Given the description of an element on the screen output the (x, y) to click on. 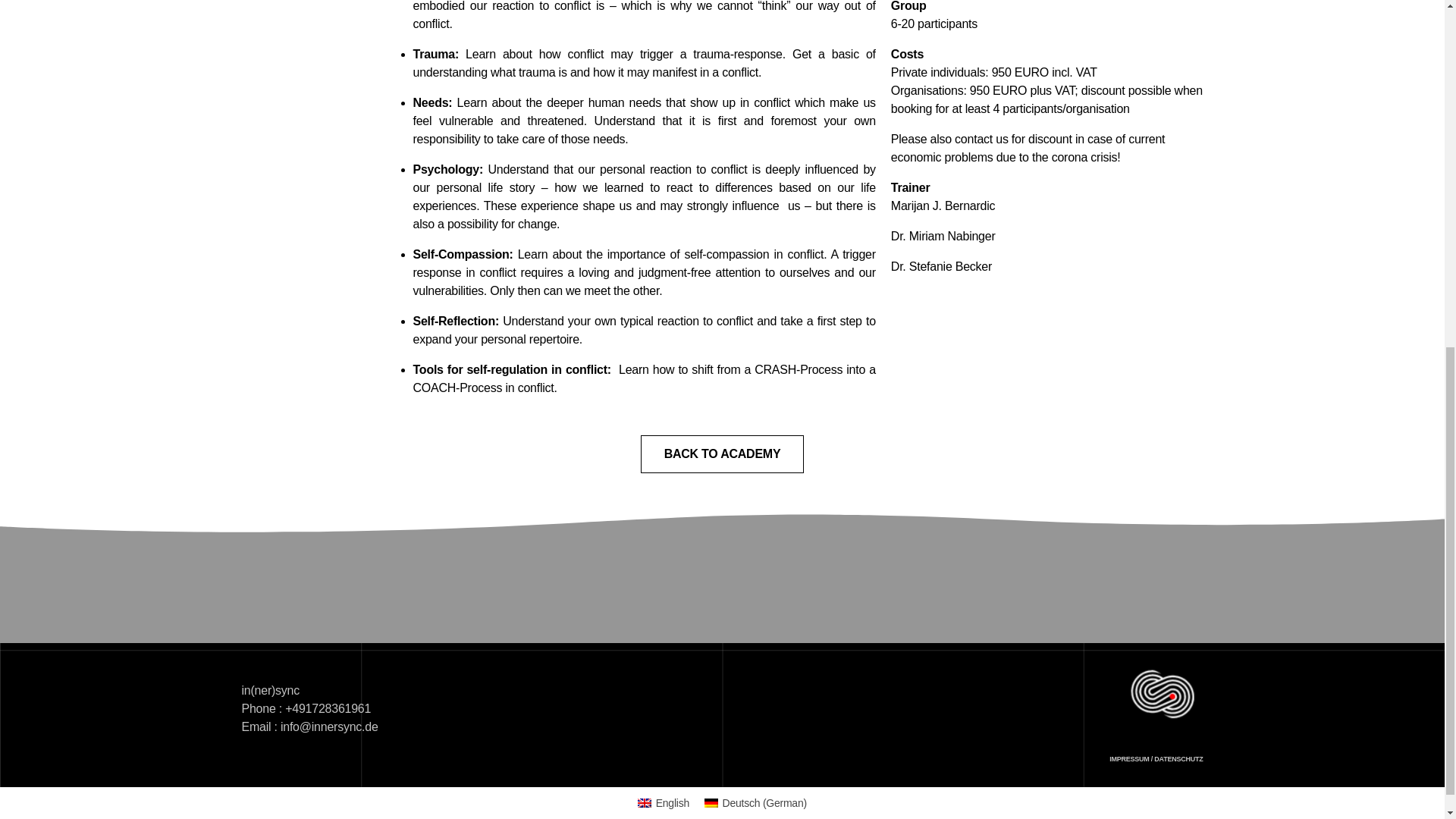
English (663, 803)
BACK TO ACADEMY (722, 453)
